Given the description of an element on the screen output the (x, y) to click on. 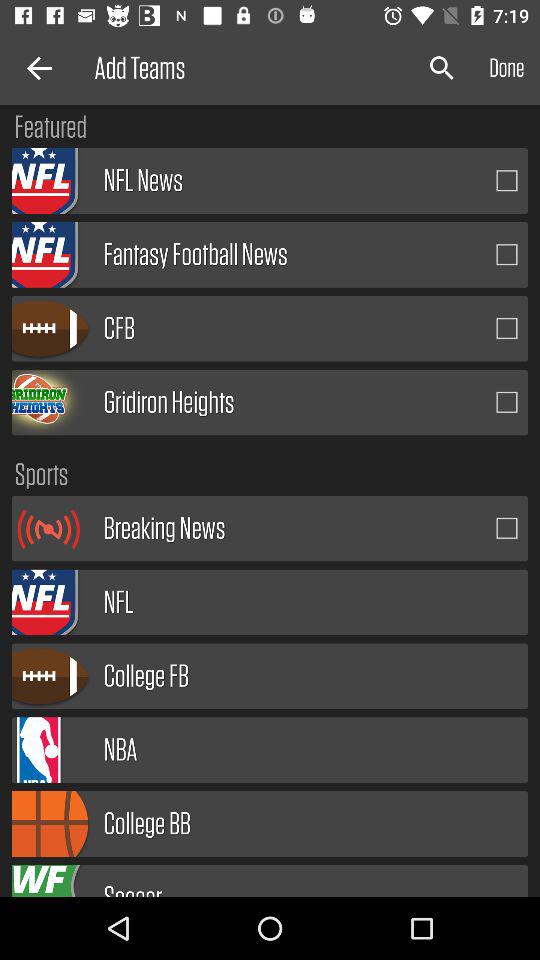
add breaking news alerts (507, 528)
